Given the description of an element on the screen output the (x, y) to click on. 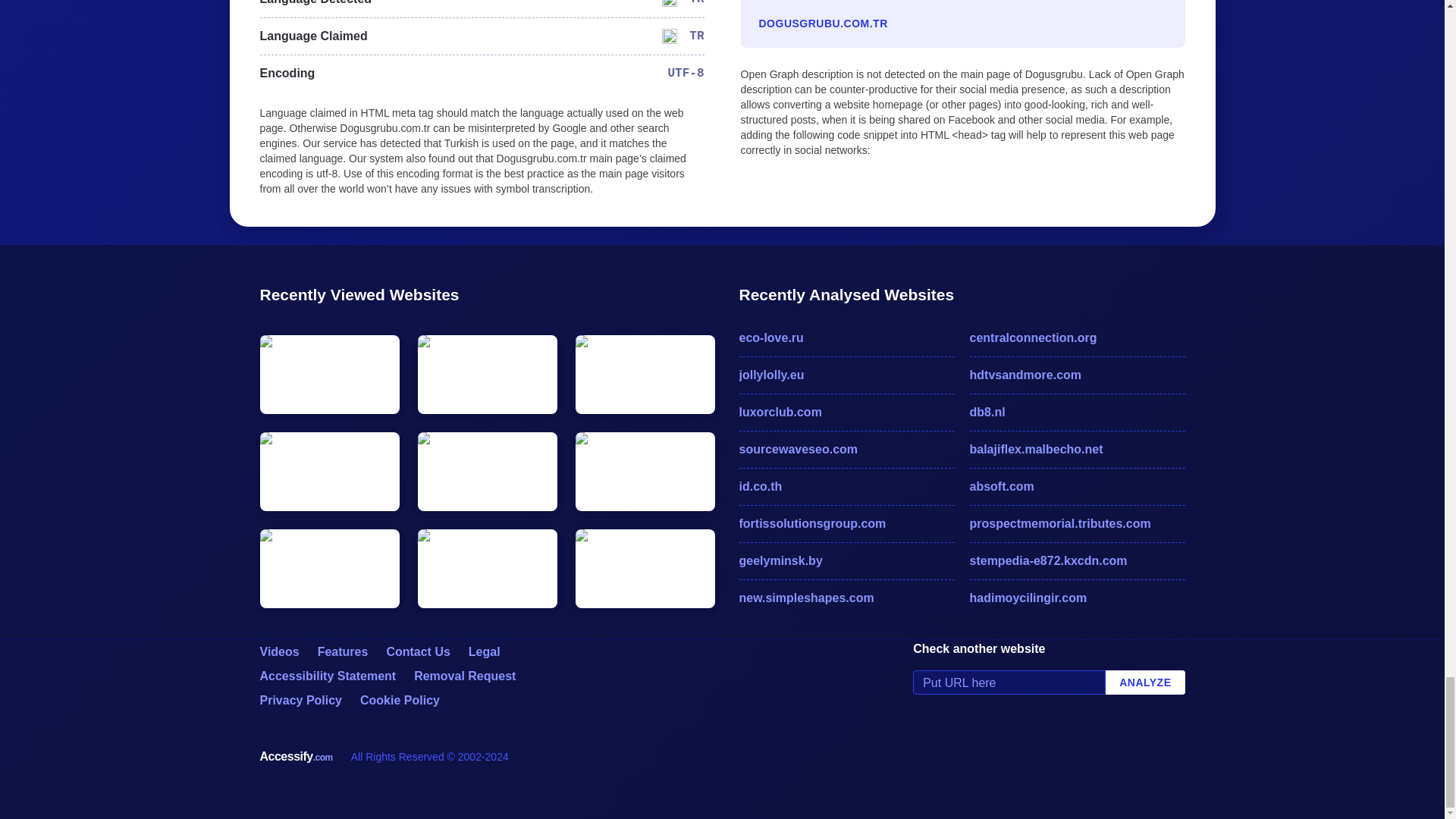
hadimoycilingir.com (1077, 597)
Contact Us (417, 651)
centralconnection.org (1077, 338)
prospectmemorial.tributes.com (1077, 524)
fortissolutionsgroup.com (845, 524)
new.simpleshapes.com (845, 597)
geelyminsk.by (845, 561)
Features (342, 651)
sourcewaveseo.com (845, 449)
luxorclub.com (845, 412)
hdtvsandmore.com (1077, 375)
Legal (484, 651)
balajiflex.malbecho.net (1077, 449)
Screencasts: video tutorials and guides (278, 651)
